Given the description of an element on the screen output the (x, y) to click on. 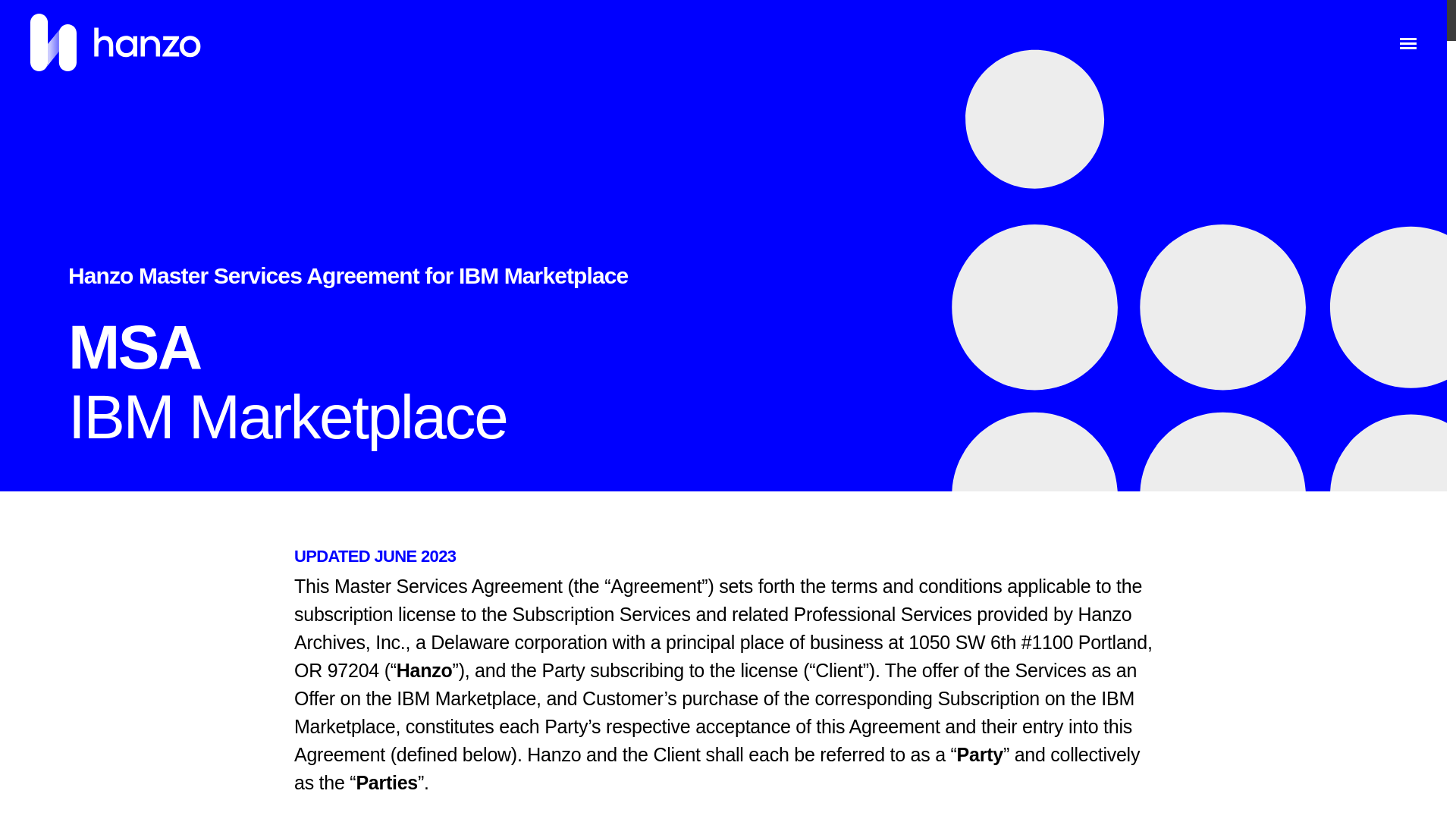
Hanzo (115, 43)
